Given the description of an element on the screen output the (x, y) to click on. 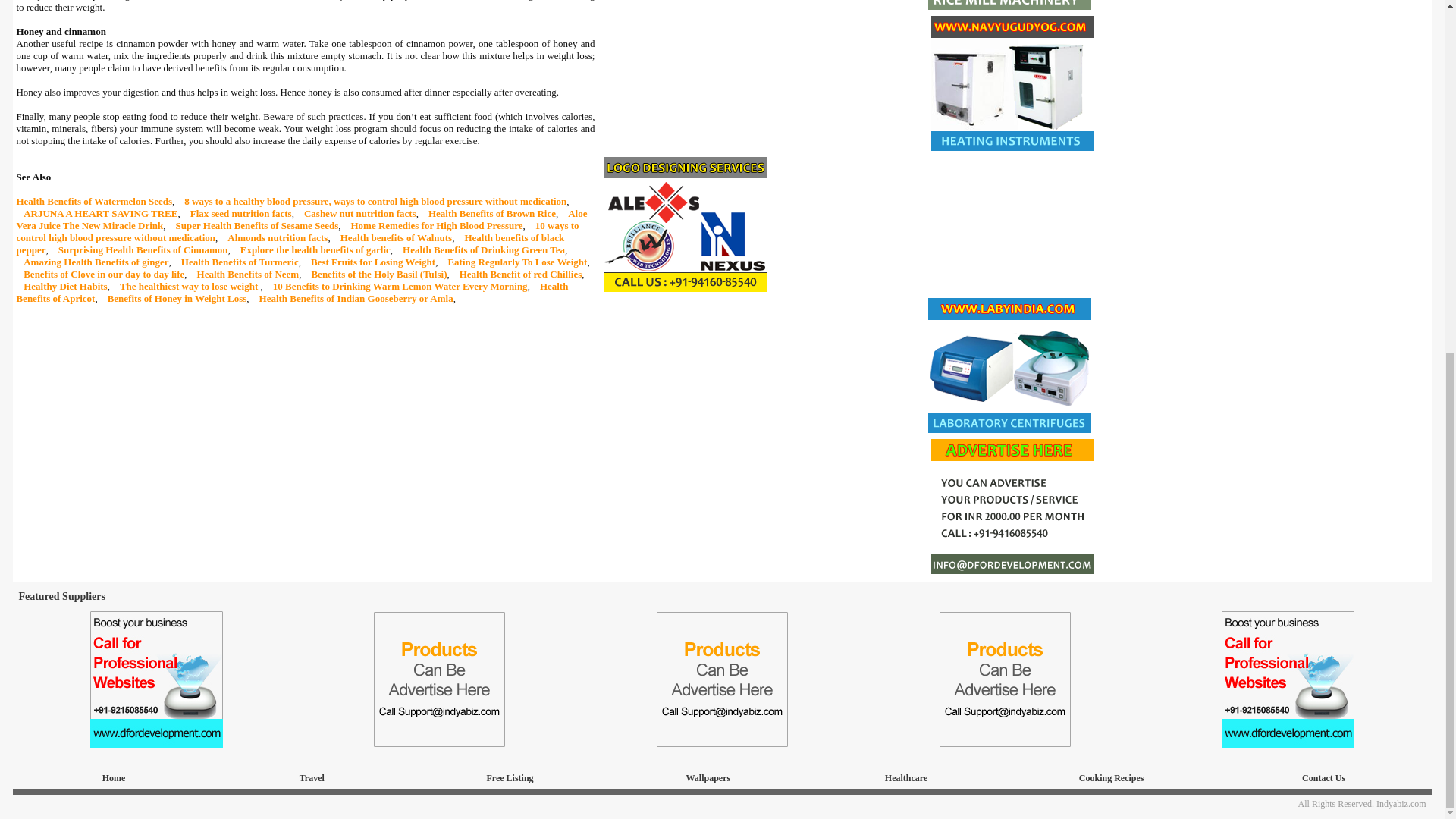
Health Benefits of Apricot (291, 291)
Health benefits of black pepper (290, 243)
ARJUNA A HEART SAVING TREE (100, 213)
Amazing Health Benefits of ginger (95, 261)
The healthiest way to lose weight (189, 285)
Almonds nutrition facts (277, 237)
Health Benefits of Neem (247, 274)
Health Benefits of Indian Gooseberry or Amla (355, 297)
10 ways to control high blood pressure without medication (297, 231)
